Given the description of an element on the screen output the (x, y) to click on. 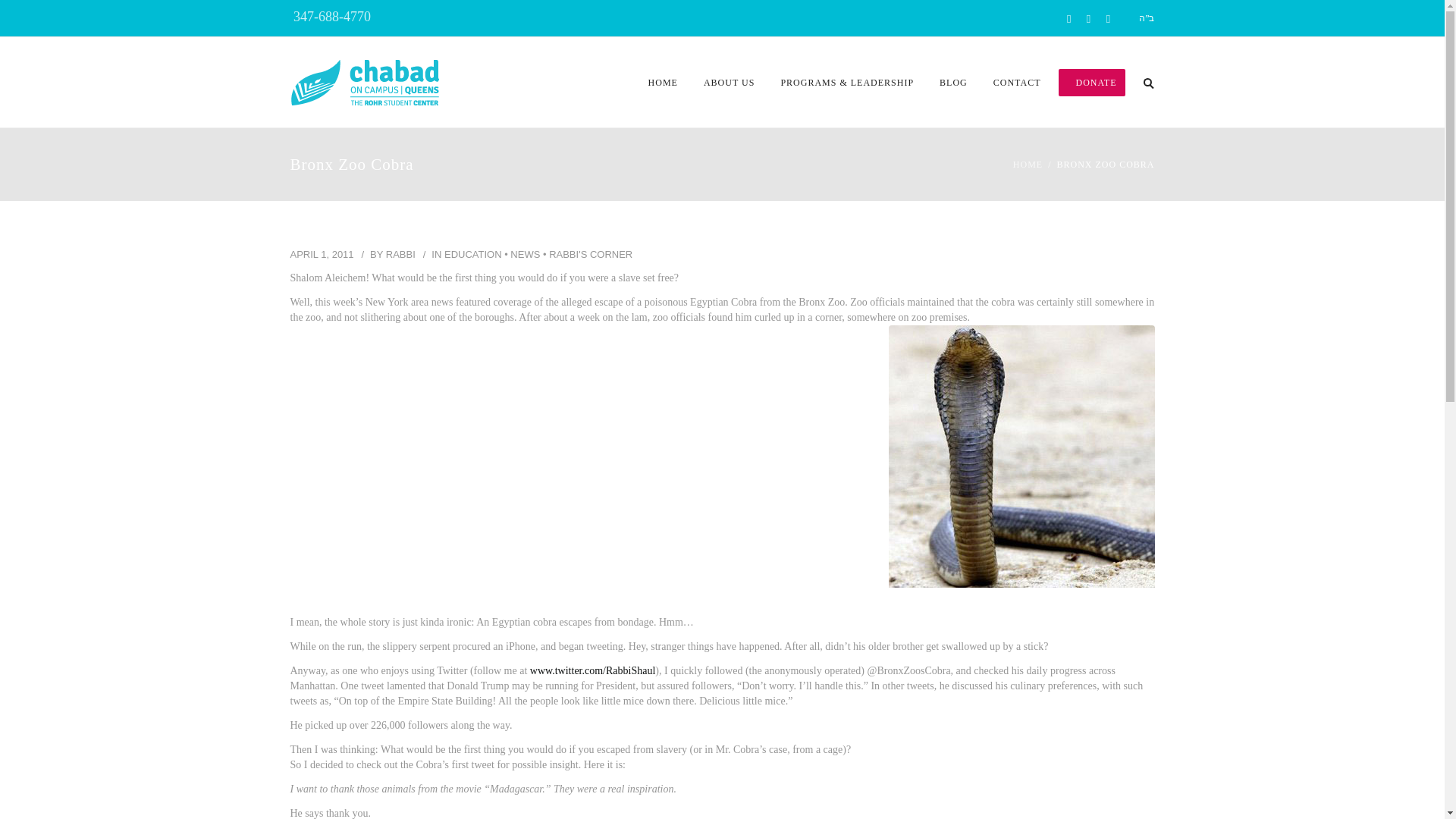
ABOUT US (728, 82)
347-688-4770 (330, 16)
HOME (662, 82)
cobra-bronx-zoo-twitter-2011-03 (1021, 456)
